Given the description of an element on the screen output the (x, y) to click on. 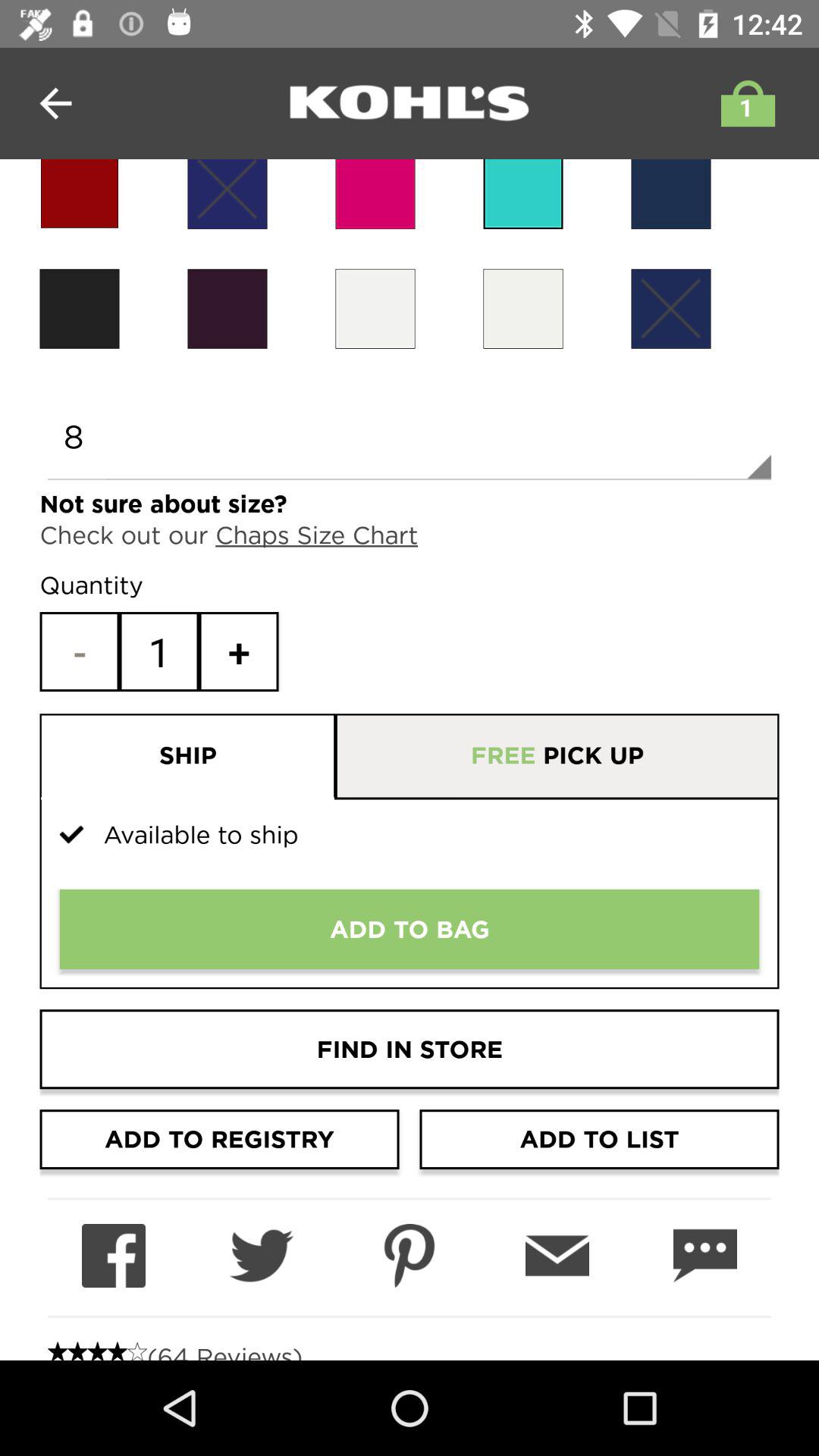
select bright pink color (375, 194)
